Given the description of an element on the screen output the (x, y) to click on. 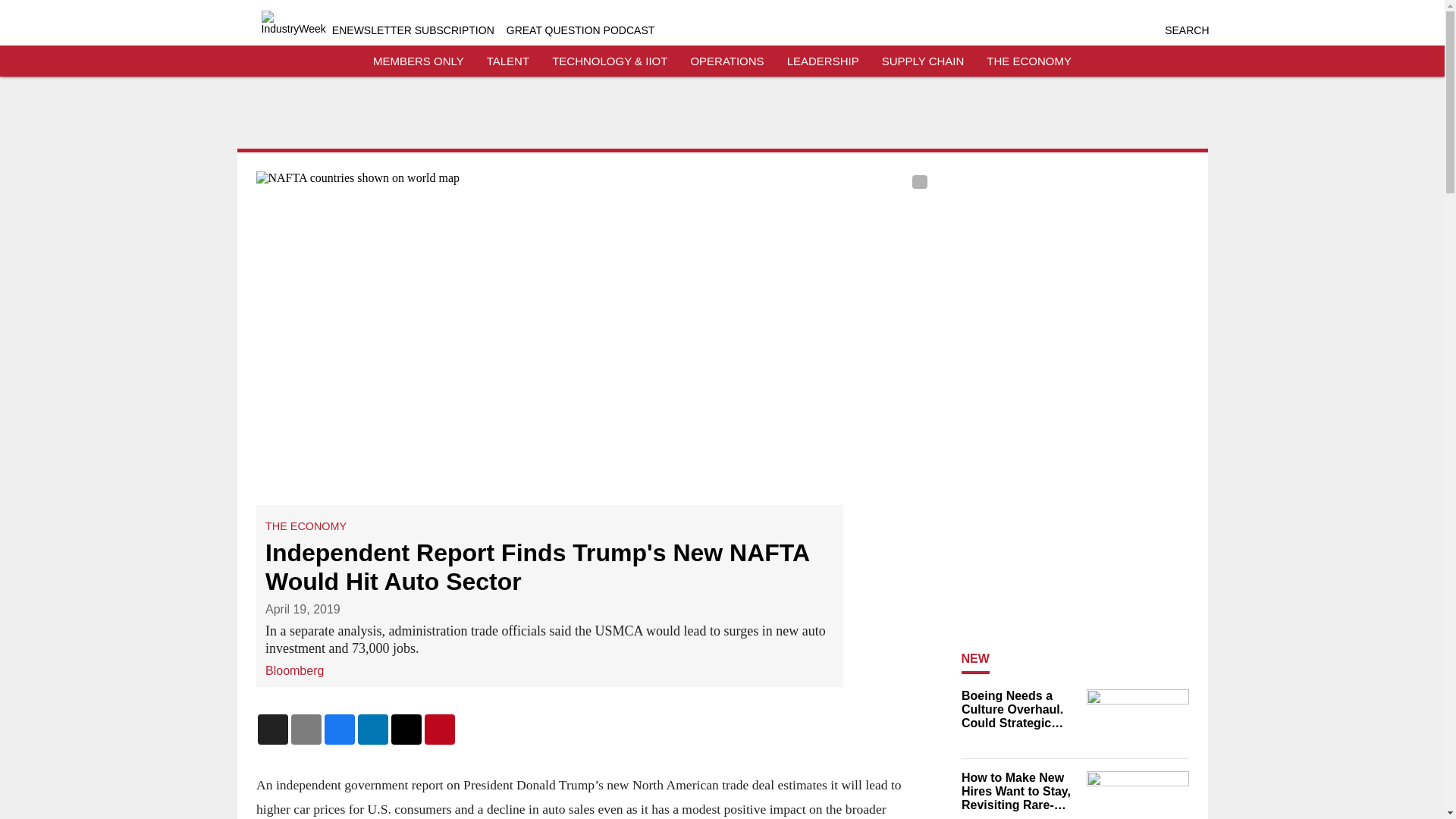
TALENT (507, 60)
GREAT QUESTION PODCAST (580, 30)
SUPPLY CHAIN (922, 60)
Bloomberg (293, 669)
MEMBERS ONLY (418, 60)
LEADERSHIP (823, 60)
THE ECONOMY (1029, 60)
THE ECONOMY (305, 526)
SEARCH (1186, 30)
ENEWSLETTER SUBSCRIPTION (413, 30)
OPERATIONS (726, 60)
